Given the description of an element on the screen output the (x, y) to click on. 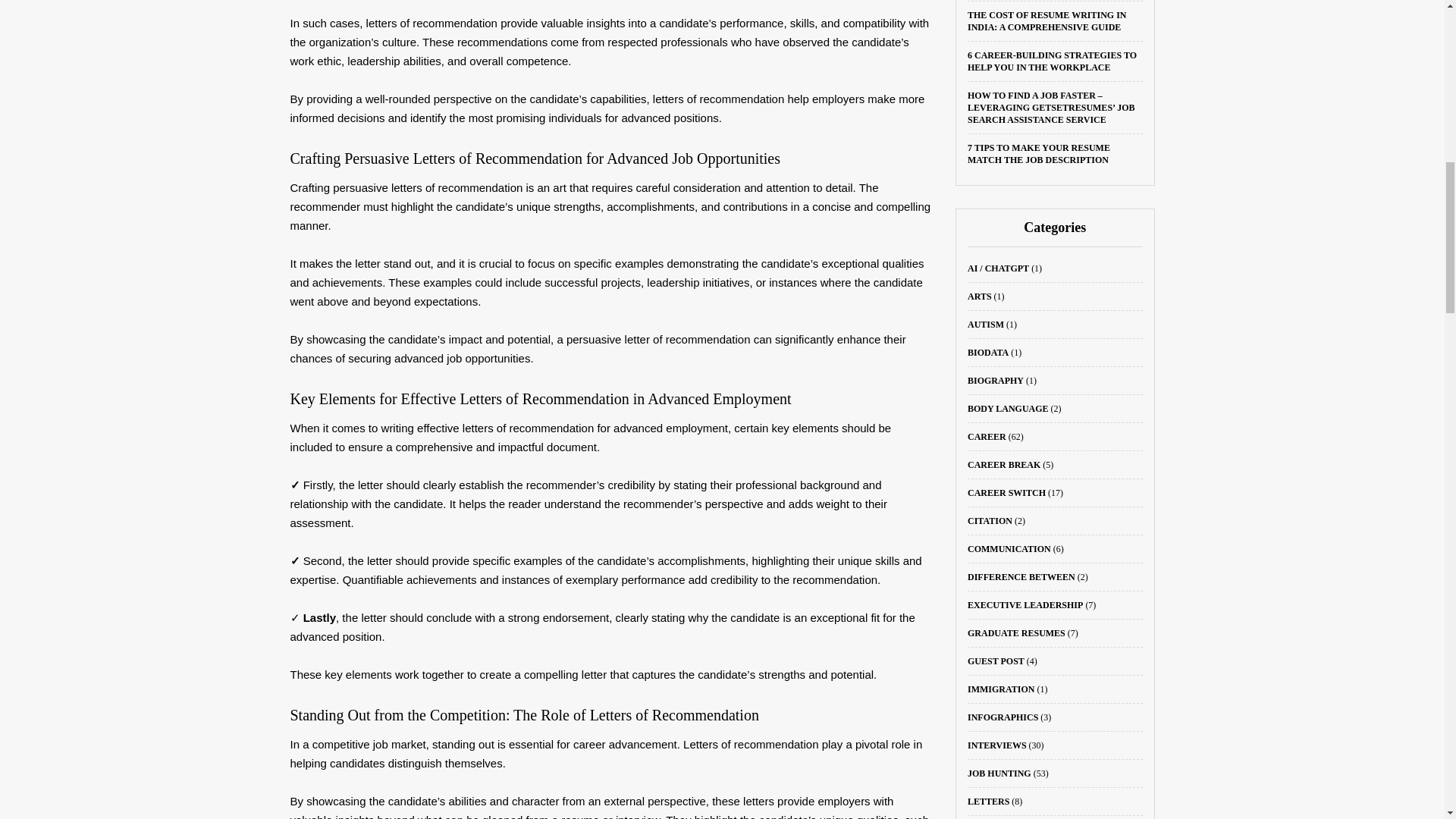
THE COST OF RESUME WRITING IN INDIA: A COMPREHENSIVE GUIDE (1047, 20)
CITATION (989, 520)
7 TIPS TO MAKE YOUR RESUME MATCH THE JOB DESCRIPTION (1038, 153)
6 CAREER-BUILDING STRATEGIES TO HELP YOU IN THE WORKPLACE (1052, 60)
CAREER BREAK (1004, 464)
CAREER SWITCH (1006, 492)
DIFFERENCE BETWEEN (1021, 576)
COMMUNICATION (1009, 548)
AUTISM (986, 324)
BIOGRAPHY (995, 380)
BIODATA (988, 352)
CAREER (987, 436)
ARTS (979, 296)
BODY LANGUAGE (1008, 408)
